Given the description of an element on the screen output the (x, y) to click on. 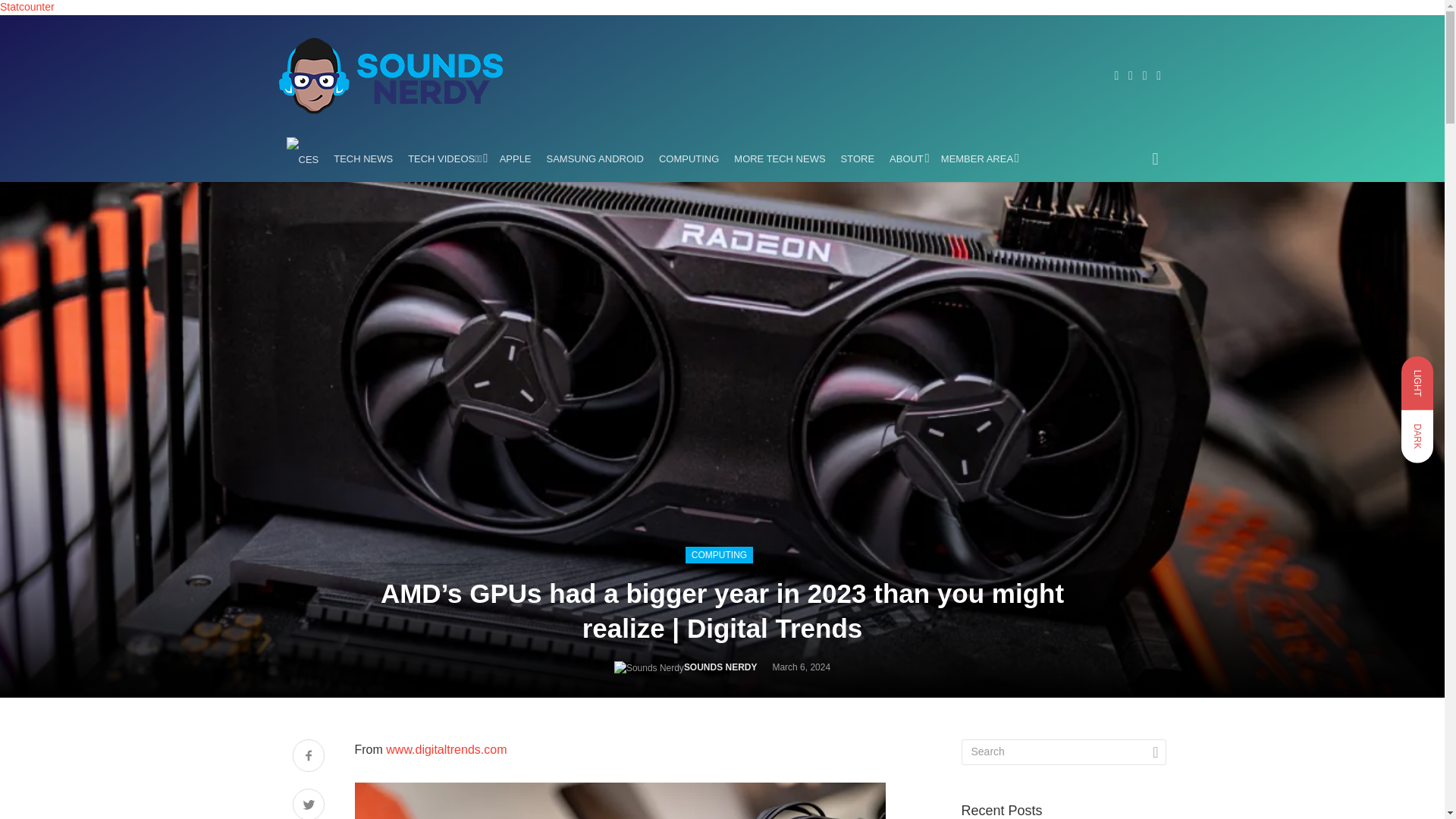
Statcounter (27, 6)
APPLE (515, 158)
COMPUTING (688, 158)
All Apple News (515, 158)
SAMSUNG ANDROID (594, 158)
TECH NEWS (363, 158)
